Given the description of an element on the screen output the (x, y) to click on. 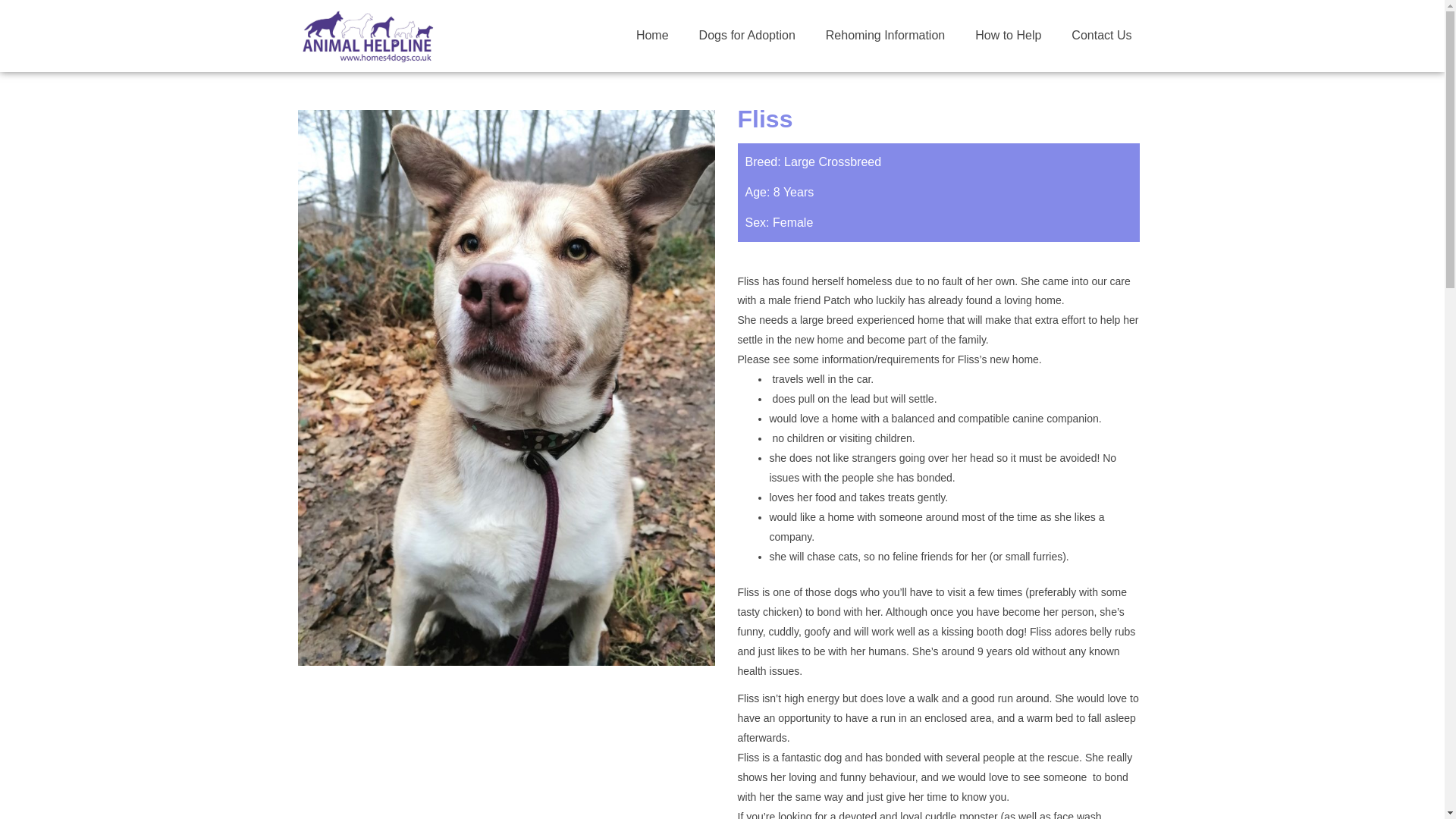
How to Help (1008, 35)
Dogs for Adoption (747, 35)
Rehoming Information (884, 35)
Contact Us (1102, 35)
Home (652, 35)
